Given the description of an element on the screen output the (x, y) to click on. 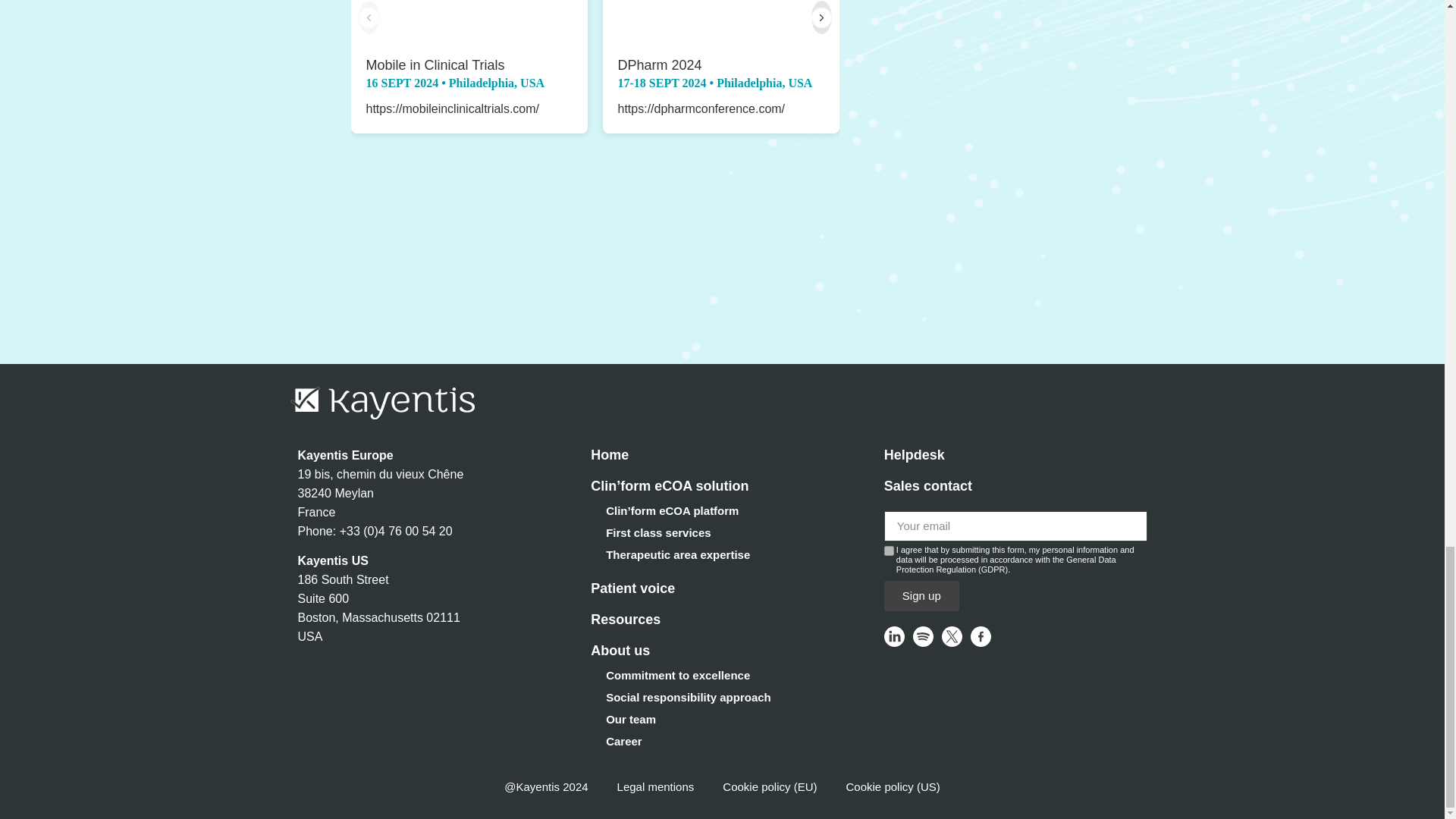
on (888, 551)
